Given the description of an element on the screen output the (x, y) to click on. 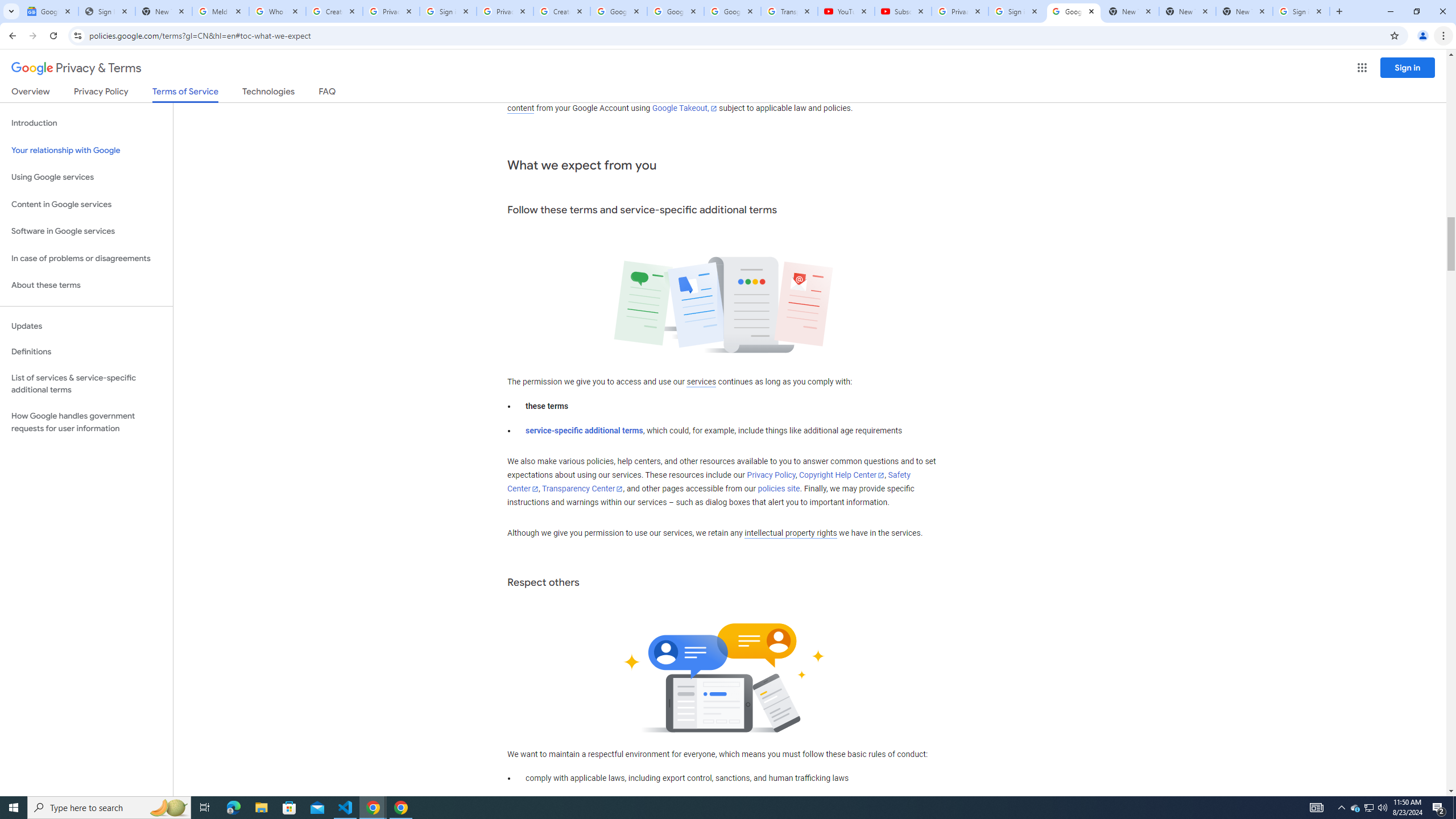
service-specific additional terms (584, 430)
services (700, 381)
Subscriptions - YouTube (902, 11)
